Given the description of an element on the screen output the (x, y) to click on. 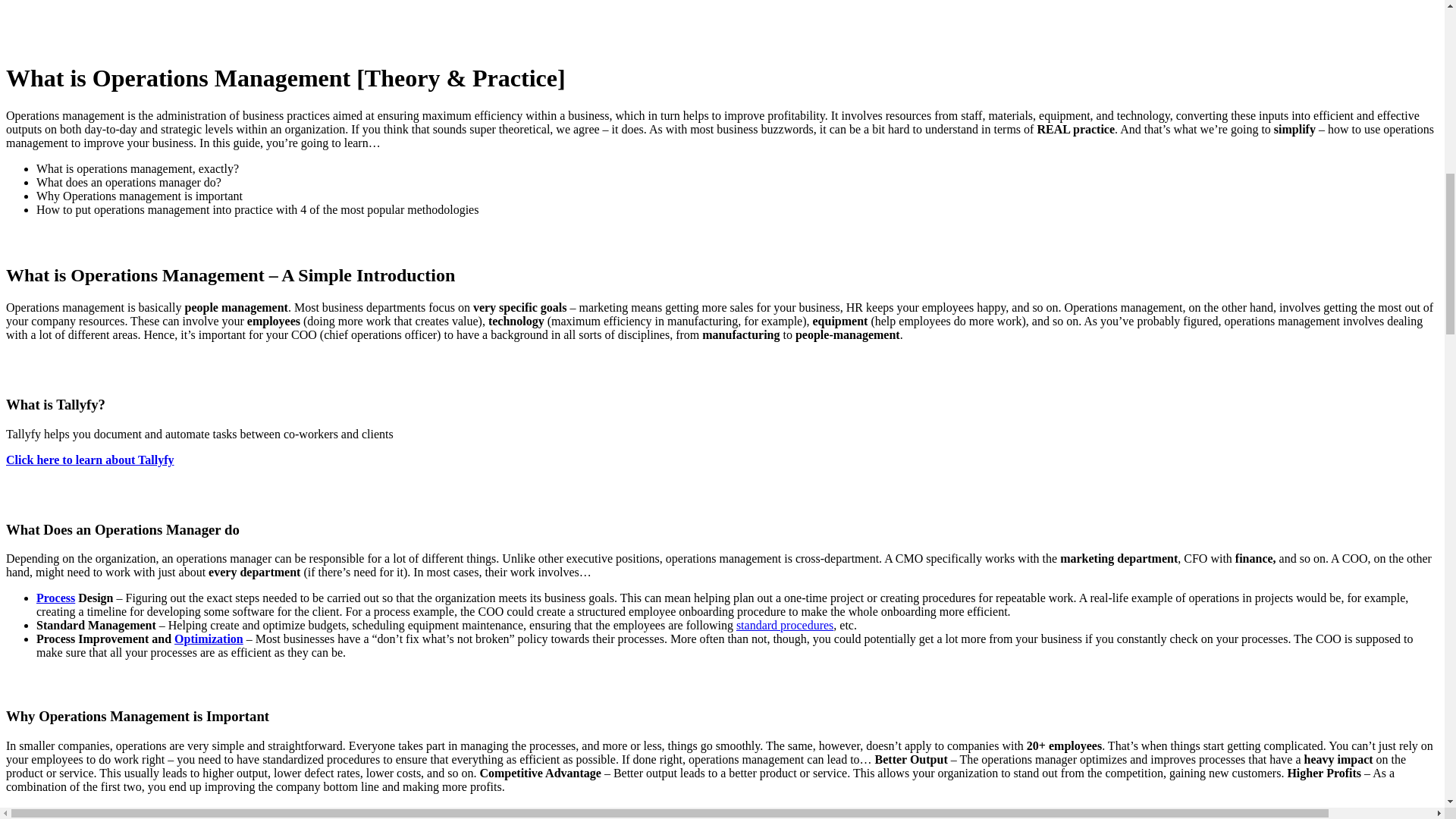
Process (55, 597)
Process (55, 597)
Click here to learn about Tallyfy (89, 459)
Optimization (208, 638)
standard procedures (784, 625)
standard procedures (784, 625)
Link (89, 459)
Optimization (208, 638)
